Given the description of an element on the screen output the (x, y) to click on. 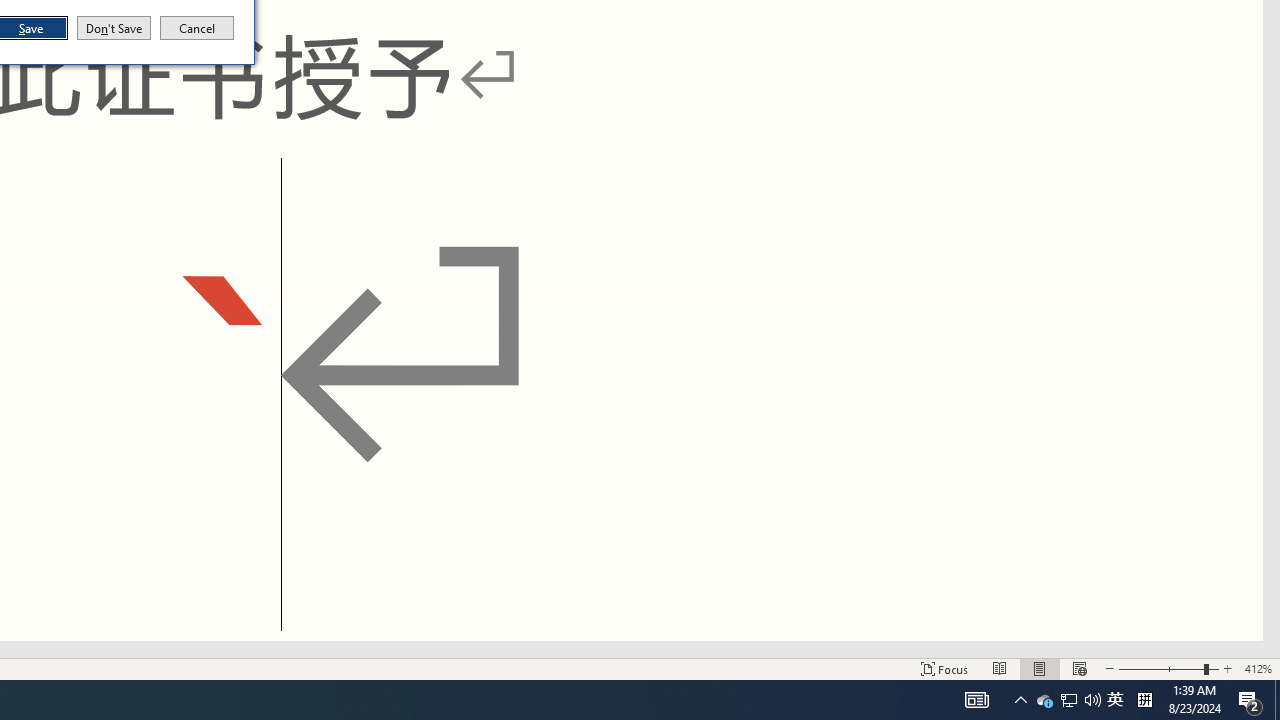
Tray Input Indicator - Chinese (Simplified, China) (1144, 699)
Cancel (197, 27)
